Given the description of an element on the screen output the (x, y) to click on. 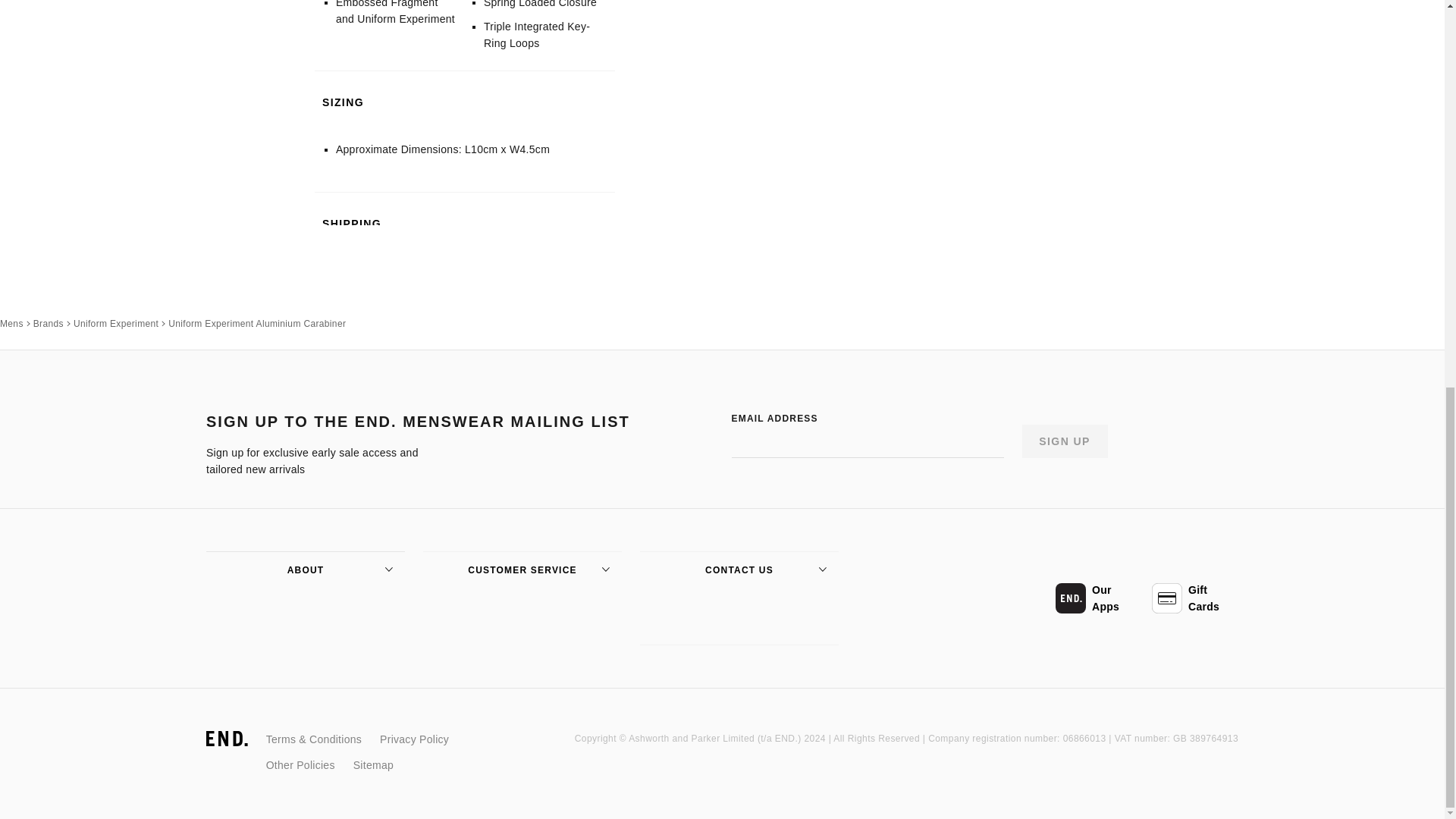
Other Policies (300, 764)
SIGN UP (1065, 441)
Gift Cards (1195, 598)
Privacy Policy (414, 739)
Mens (11, 323)
Uniform Experiment (116, 323)
Our Apps (1097, 598)
Uniform Experiment Aluminium Carabiner (257, 323)
Sitemap (373, 764)
Brands (48, 323)
